Given the description of an element on the screen output the (x, y) to click on. 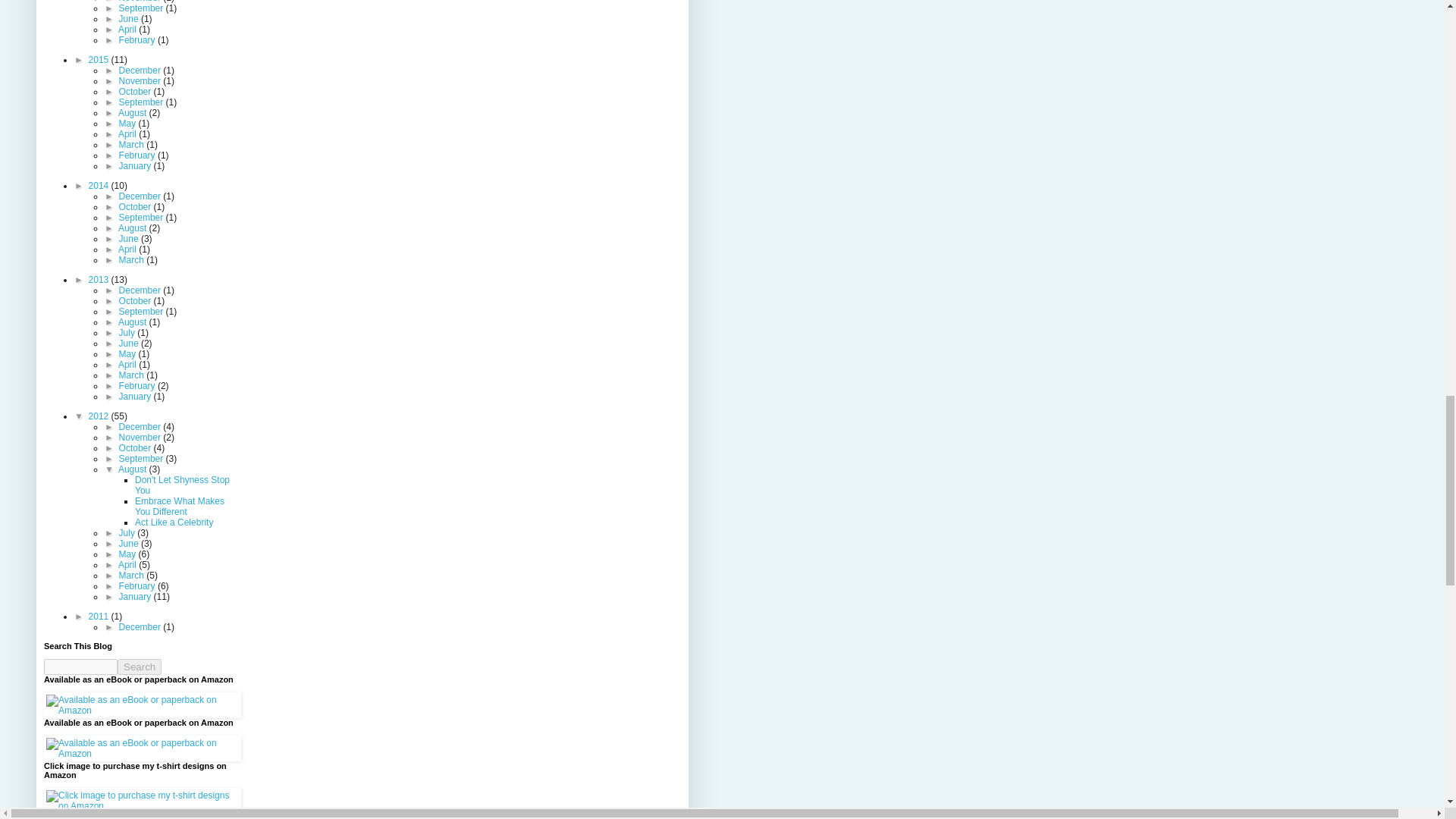
Search (139, 666)
Search (139, 666)
search (80, 666)
search (139, 666)
